Given the description of an element on the screen output the (x, y) to click on. 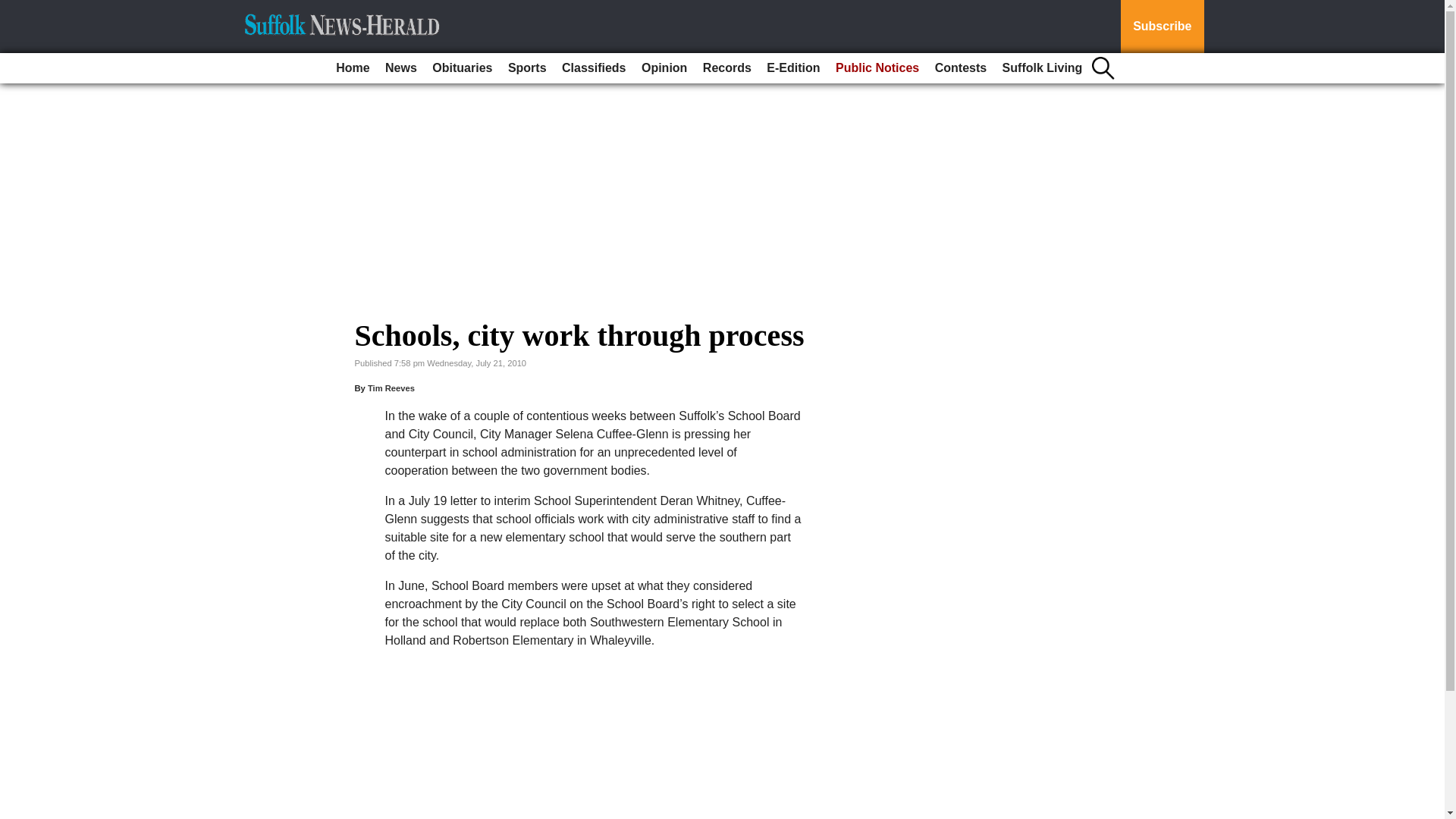
Tim Reeves (391, 388)
Sports (527, 68)
Go (13, 9)
News (400, 68)
E-Edition (792, 68)
Home (352, 68)
Subscribe (1162, 26)
Contests (960, 68)
Obituaries (461, 68)
Classifieds (593, 68)
